Given the description of an element on the screen output the (x, y) to click on. 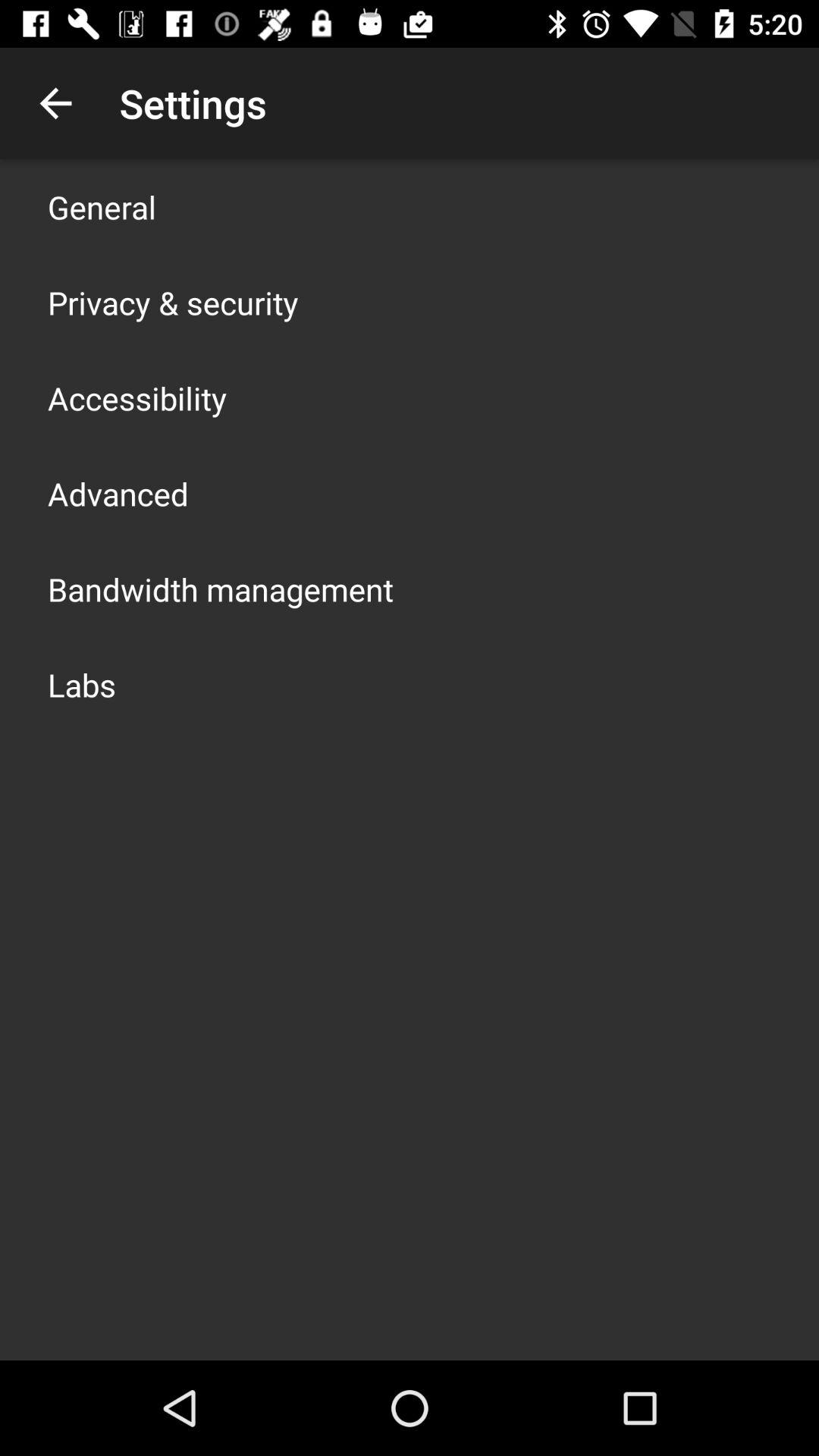
turn on the privacy & security icon (172, 302)
